Given the description of an element on the screen output the (x, y) to click on. 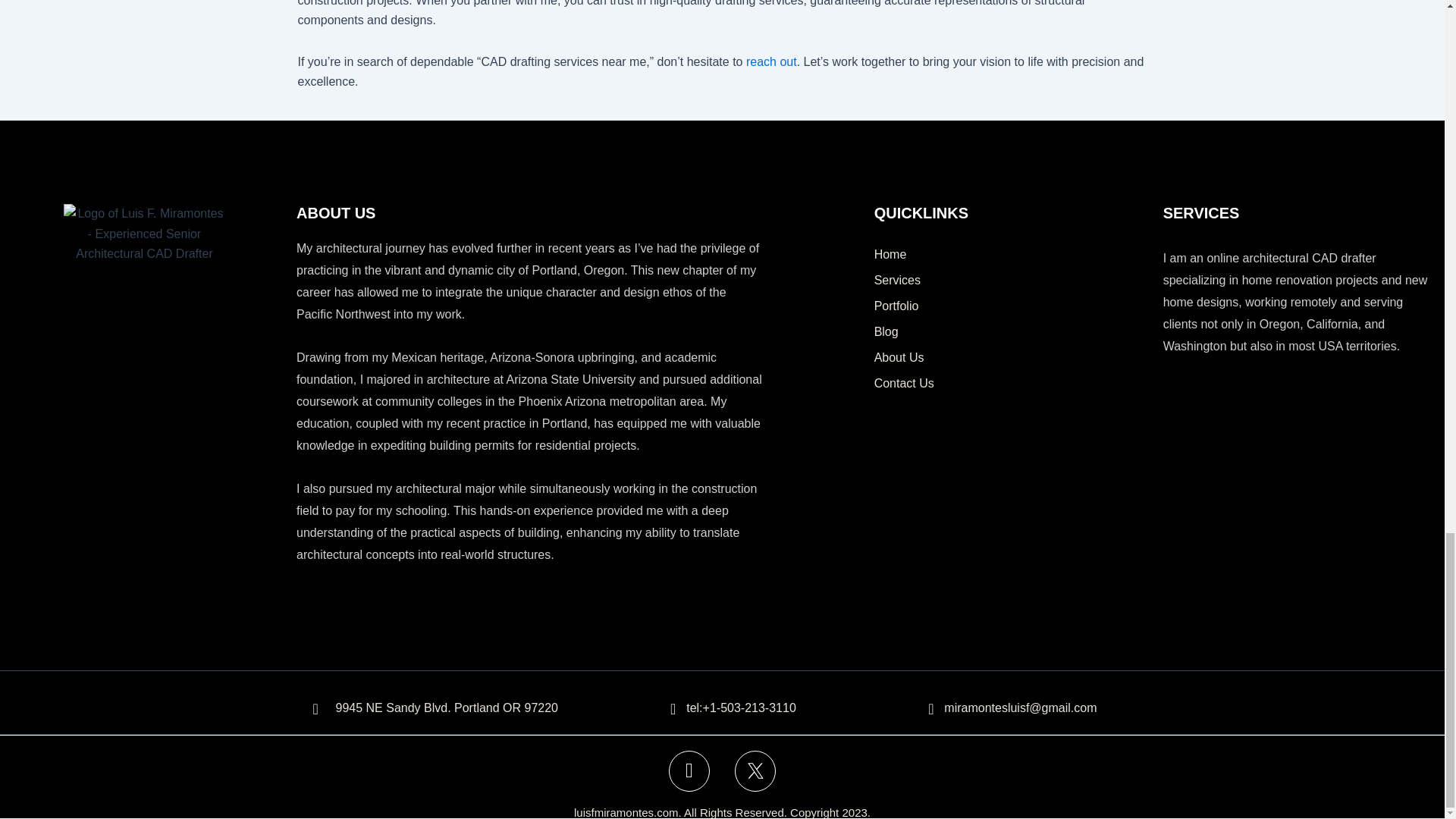
ABOUT US (336, 212)
Services (1011, 280)
About Us (1011, 357)
Portfolio (1011, 306)
Facebook (689, 771)
reach out (770, 61)
Contact Us (770, 61)
Blog (1011, 331)
Home (1011, 254)
Contact Us (1011, 383)
